Given the description of an element on the screen output the (x, y) to click on. 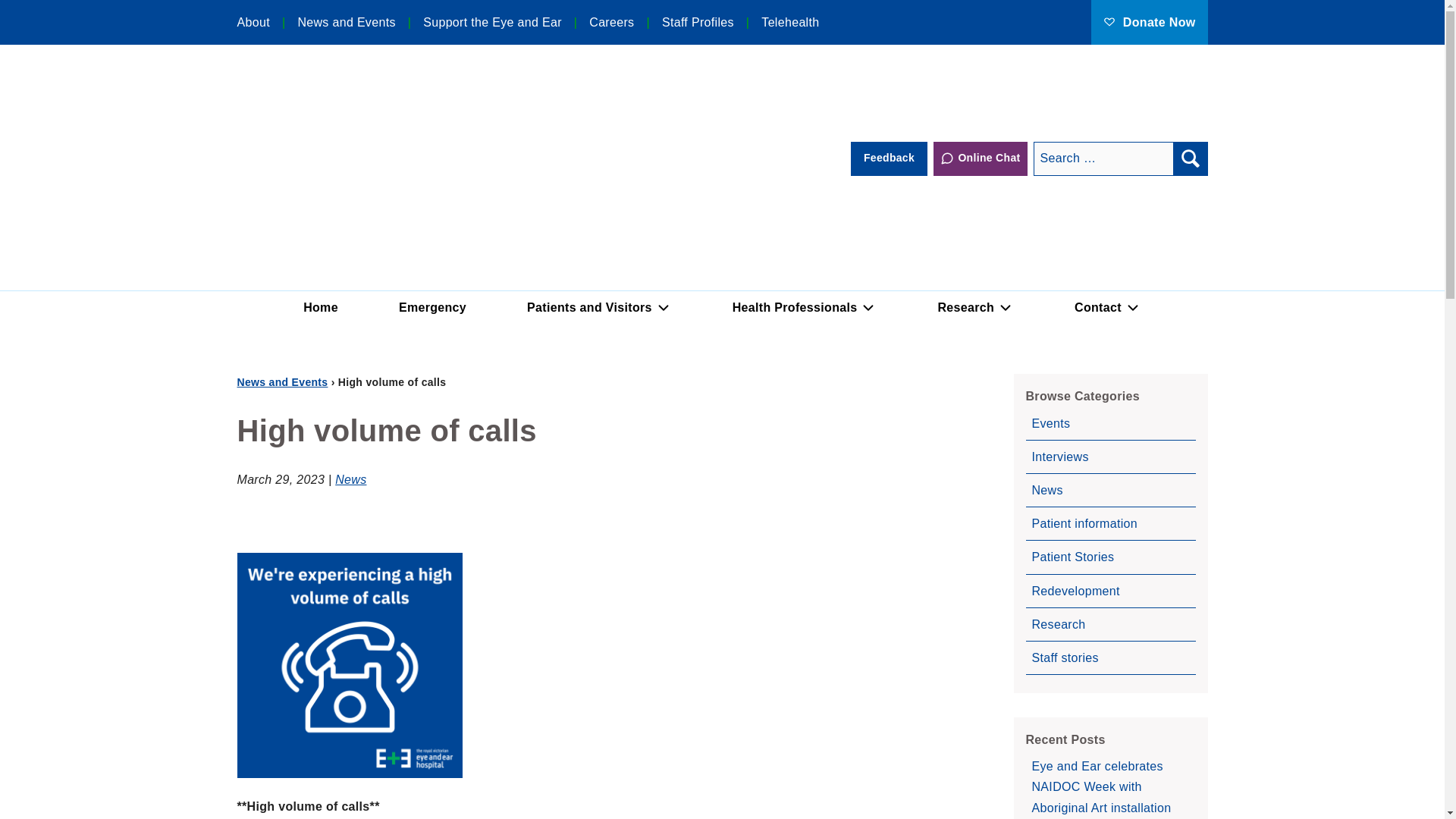
Search for: (1102, 158)
